Given the description of an element on the screen output the (x, y) to click on. 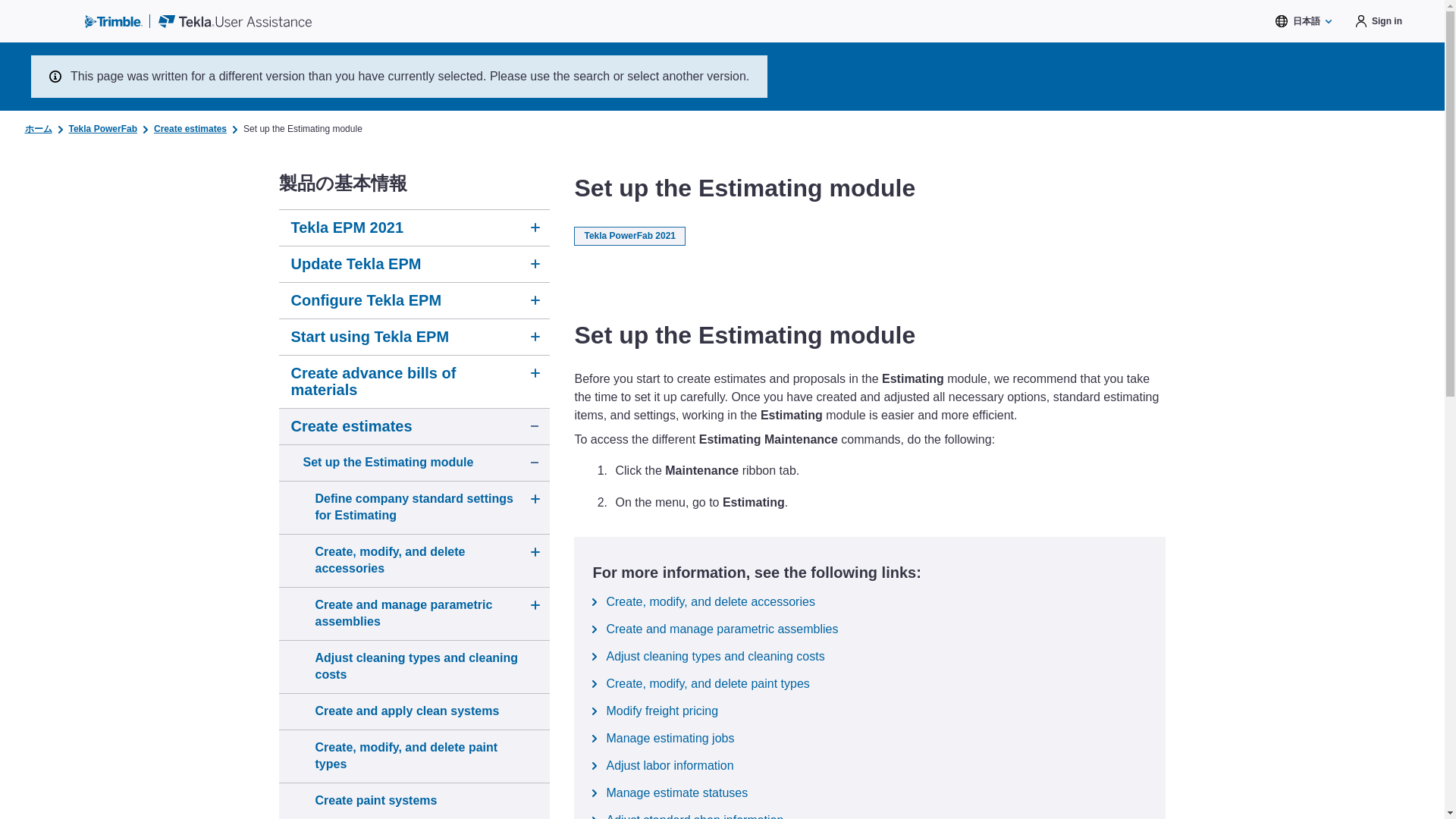
Sign in (1378, 21)
